Given the description of an element on the screen output the (x, y) to click on. 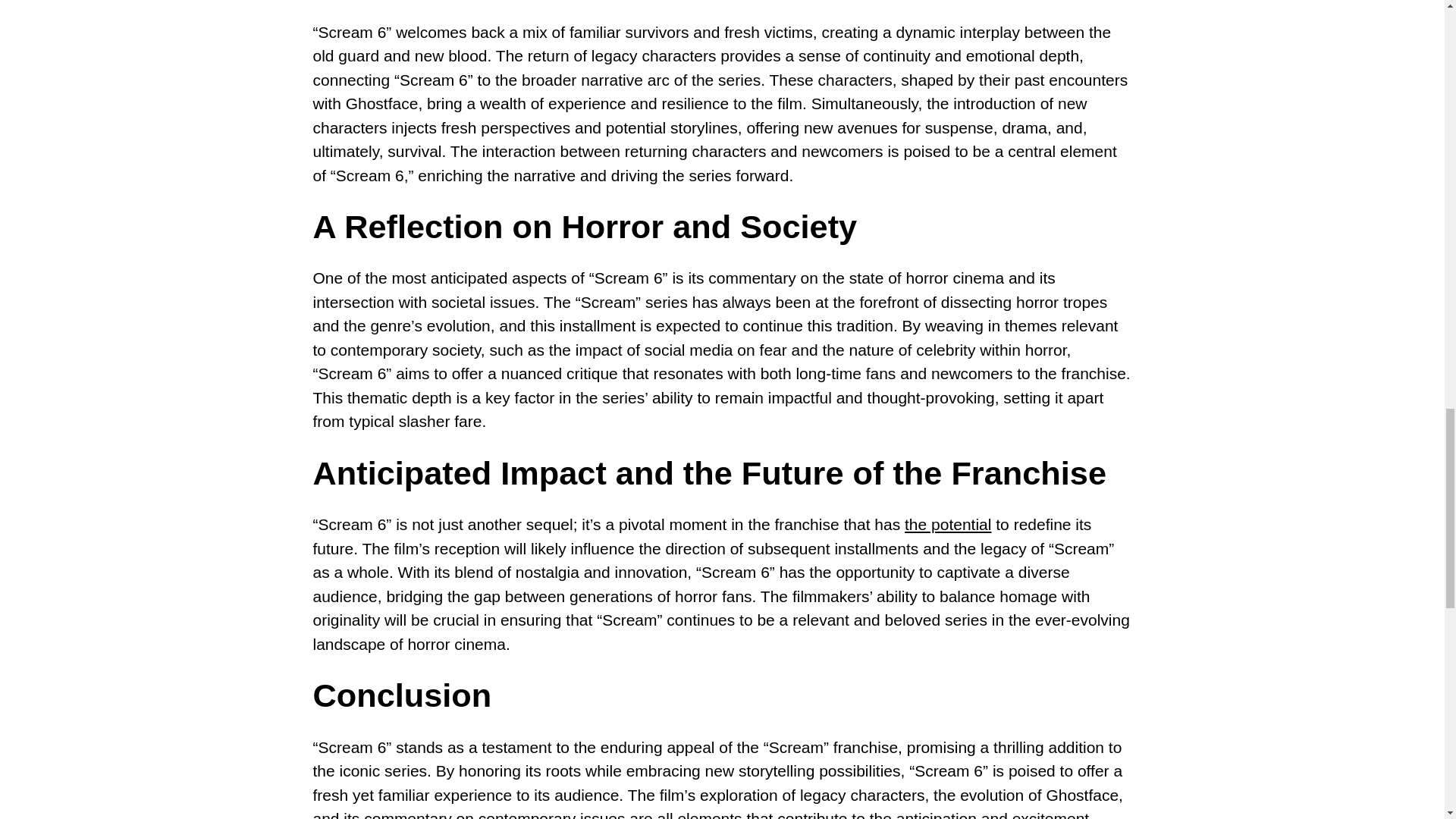
the potential (947, 524)
